Given the description of an element on the screen output the (x, y) to click on. 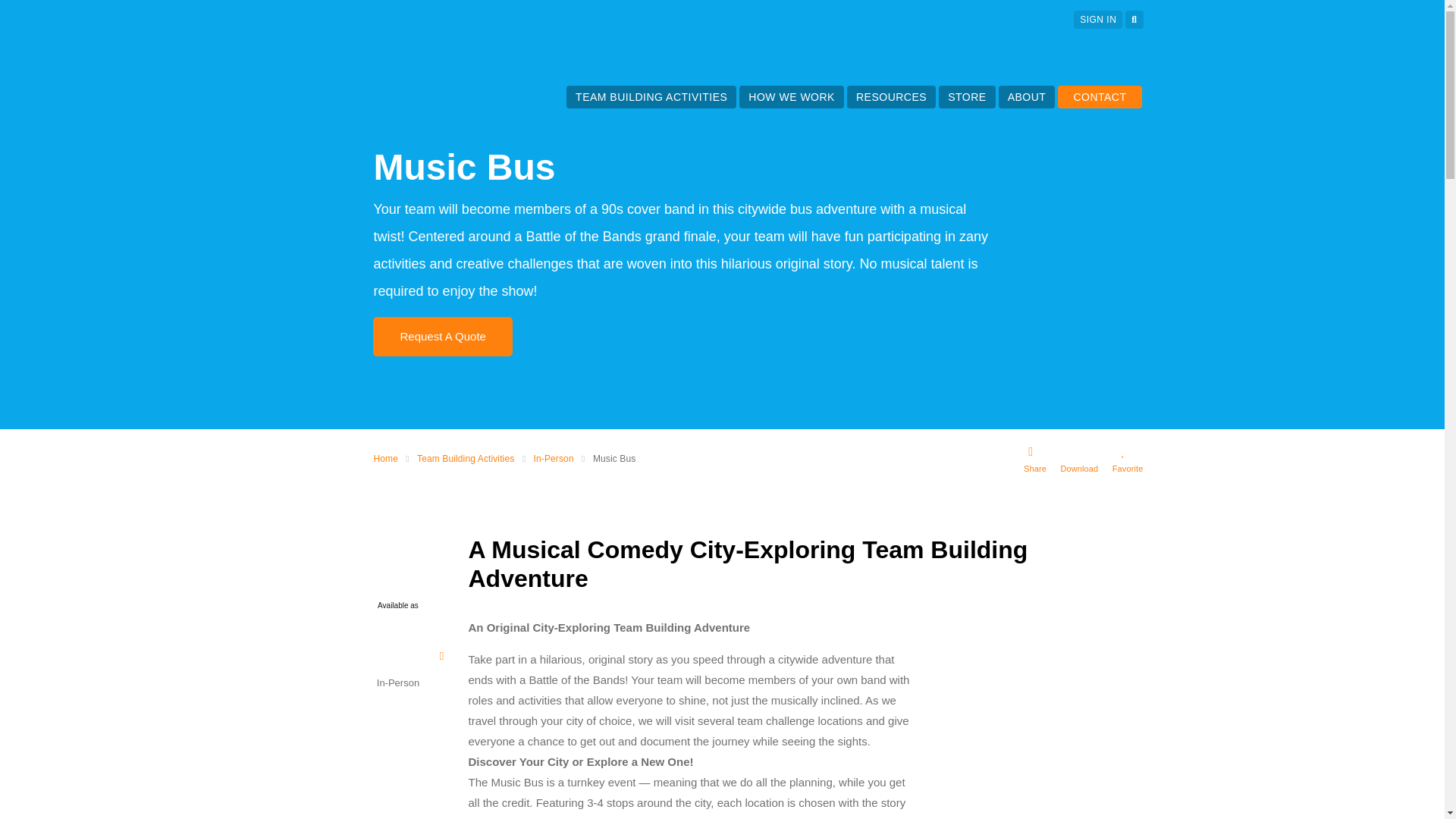
ABOUT (1026, 96)
TEAM BUILDING ACTIVITIES (650, 96)
STORE (966, 96)
HOW WE WORK (791, 96)
RESOURCES (891, 96)
SIGN IN (1098, 19)
CONTACT (1099, 96)
